Given the description of an element on the screen output the (x, y) to click on. 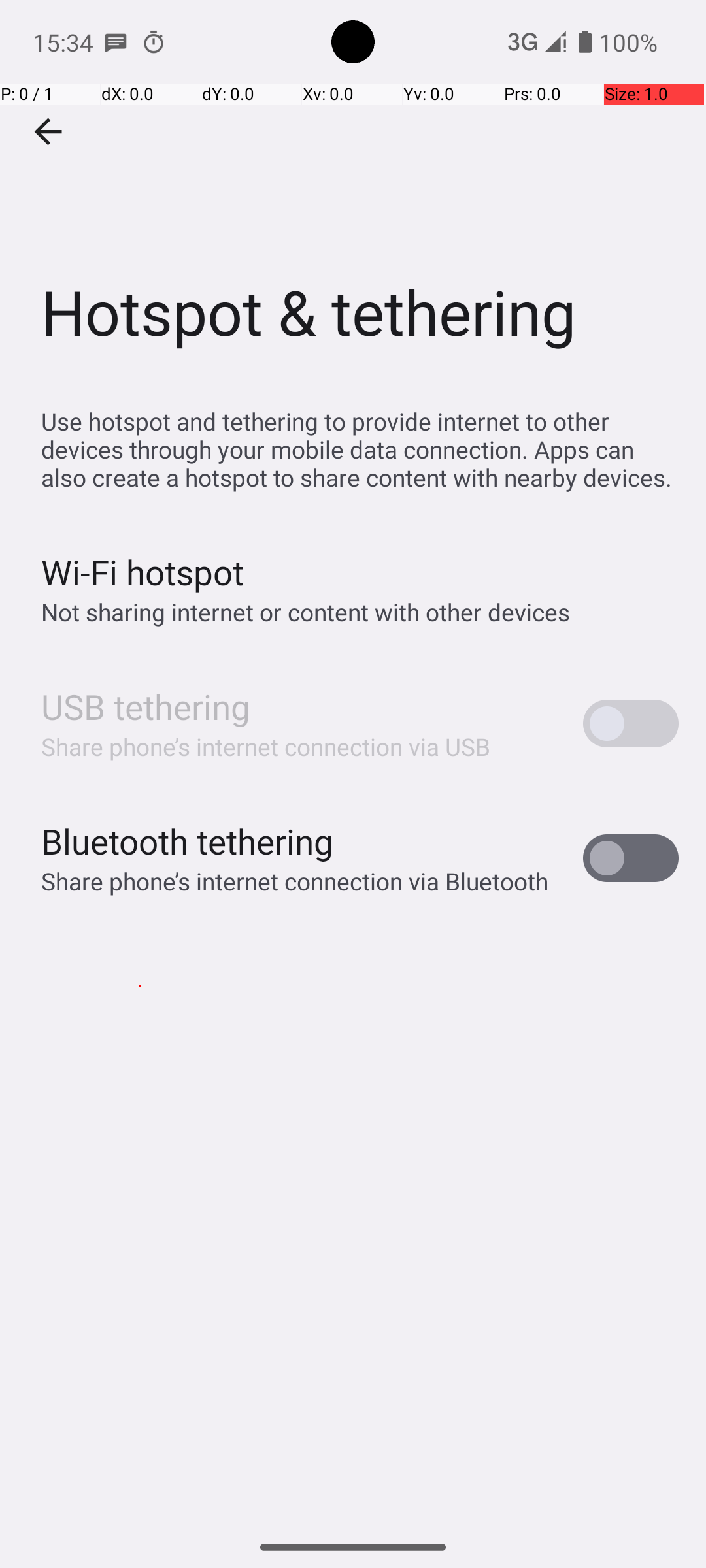
Use hotspot and tethering to provide internet to other devices through your mobile data connection. Apps can also create a hotspot to share content with nearby devices. Element type: android.widget.TextView (359, 448)
Wi‑Fi hotspot Element type: android.widget.TextView (142, 571)
Not sharing internet or content with other devices Element type: android.widget.TextView (305, 611)
USB tethering Element type: android.widget.TextView (145, 706)
Share phone’s internet connection via USB Element type: android.widget.TextView (265, 746)
Bluetooth tethering Element type: android.widget.TextView (187, 840)
Share phone’s internet connection via Bluetooth Element type: android.widget.TextView (294, 880)
